Given the description of an element on the screen output the (x, y) to click on. 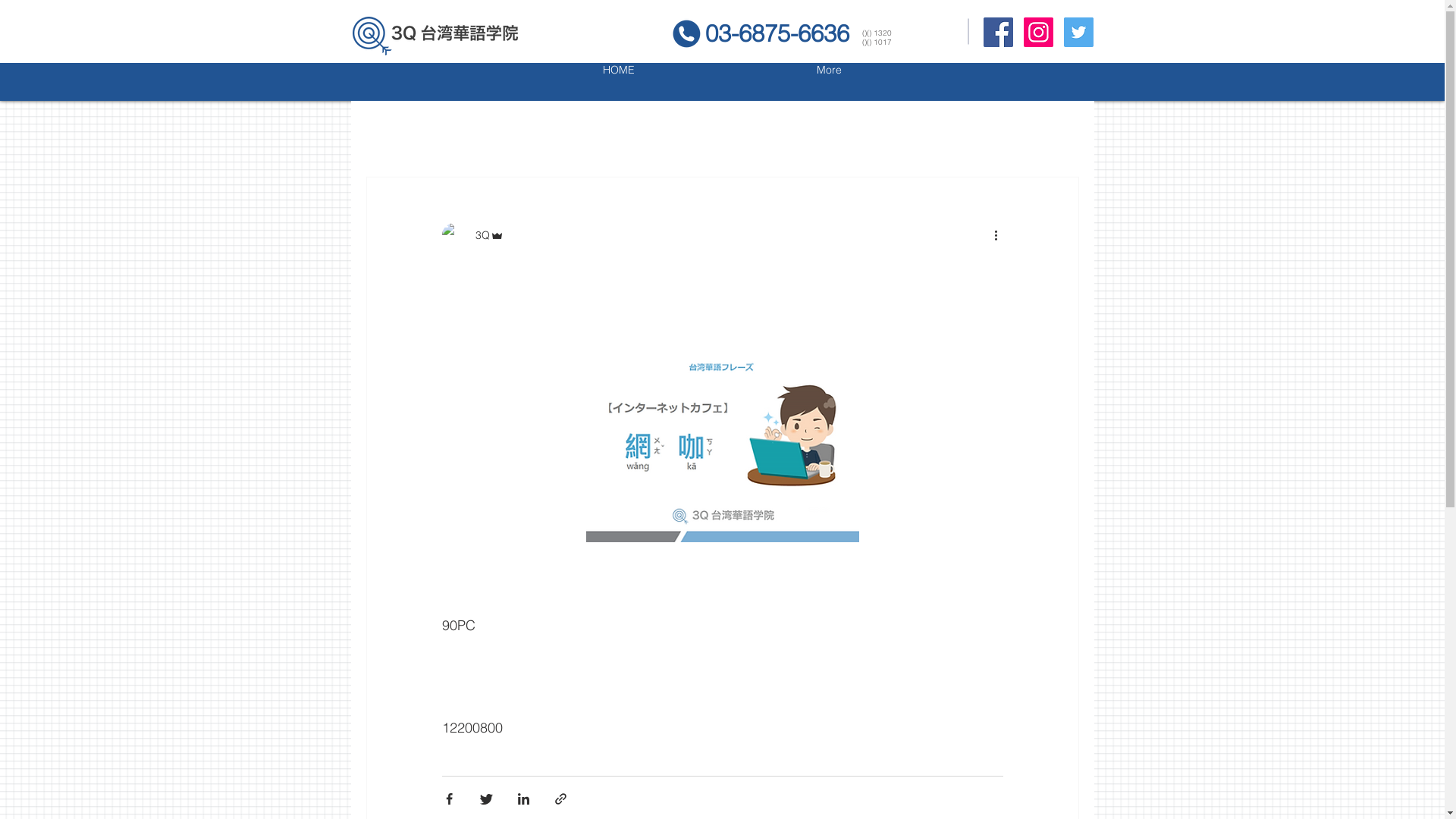
HOME Element type: text (618, 81)
